Given the description of an element on the screen output the (x, y) to click on. 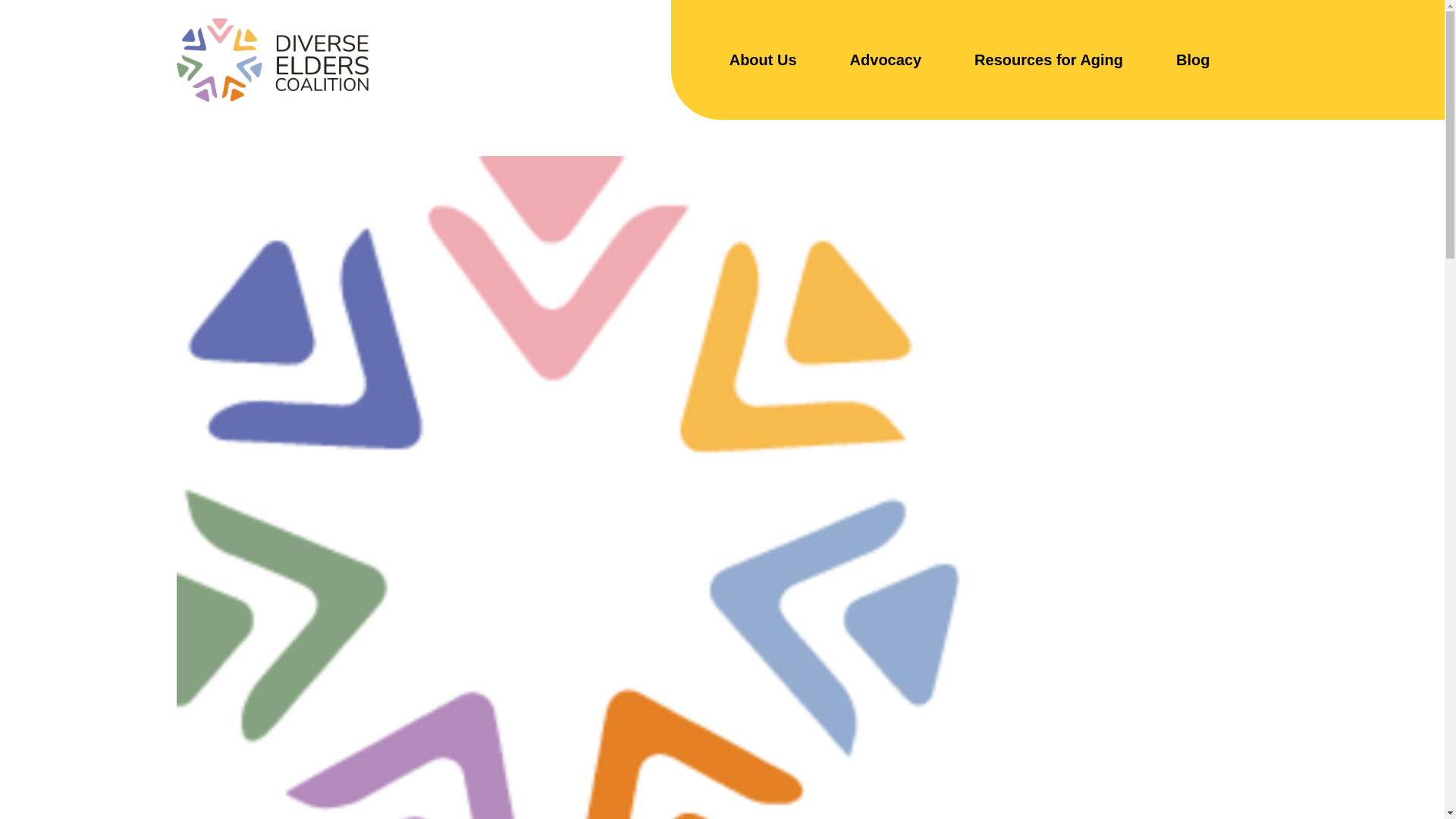
Advocacy (885, 59)
Resources for Aging (1048, 59)
Blog (1192, 59)
About Us (762, 59)
